Given the description of an element on the screen output the (x, y) to click on. 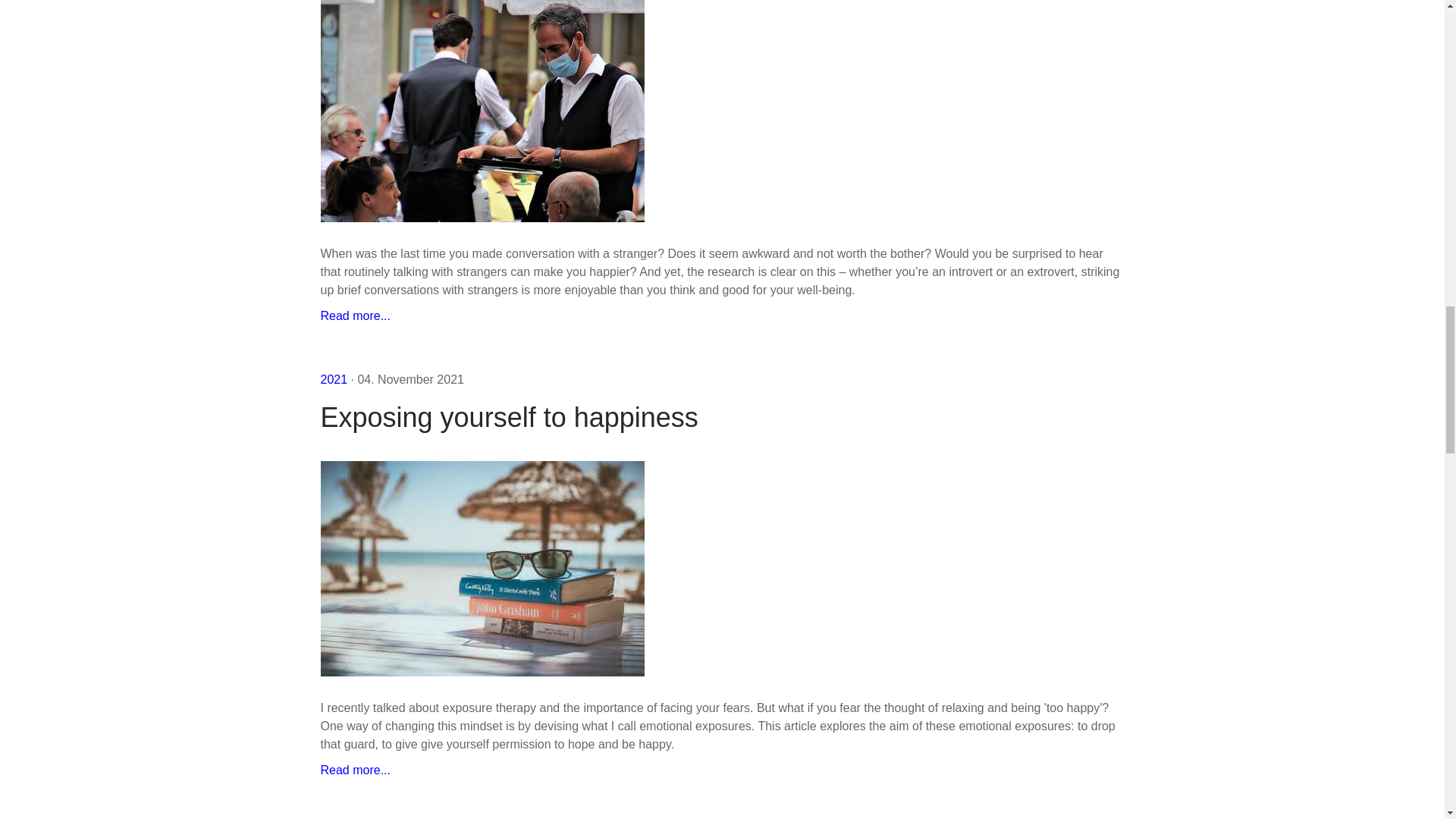
Exposing yourself to happiness (722, 417)
Talking to strangers can make you happier (355, 315)
Exposing yourself to happiness (355, 769)
